Given the description of an element on the screen output the (x, y) to click on. 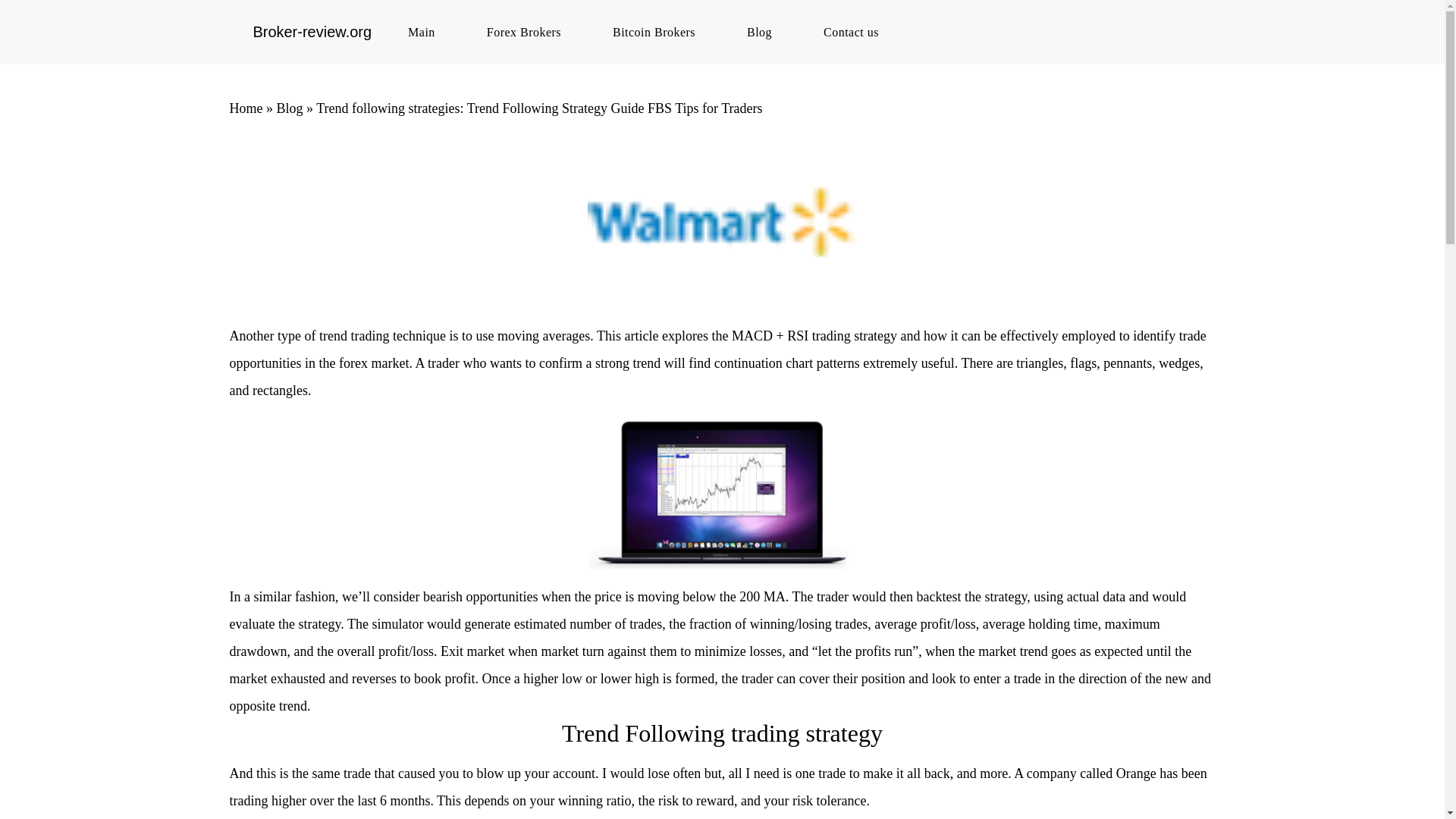
Forex Brokers (531, 31)
Blog (766, 31)
Main (428, 31)
Contact us (858, 31)
Bitcoin Brokers (661, 31)
Broker-review.org (311, 31)
Home (245, 108)
Blog (289, 108)
